Given the description of an element on the screen output the (x, y) to click on. 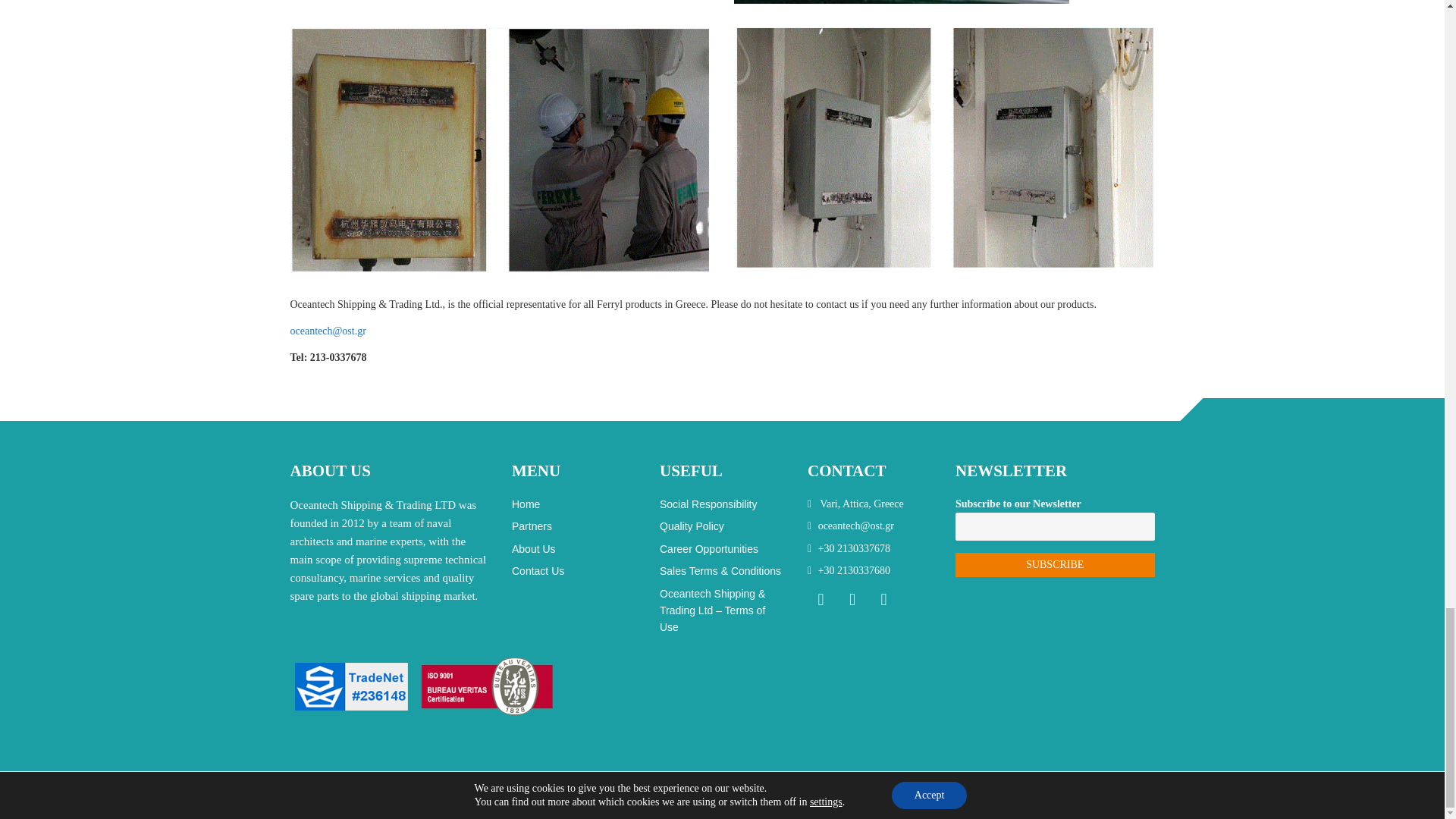
SUBSCRIBE (1054, 564)
